Given the description of an element on the screen output the (x, y) to click on. 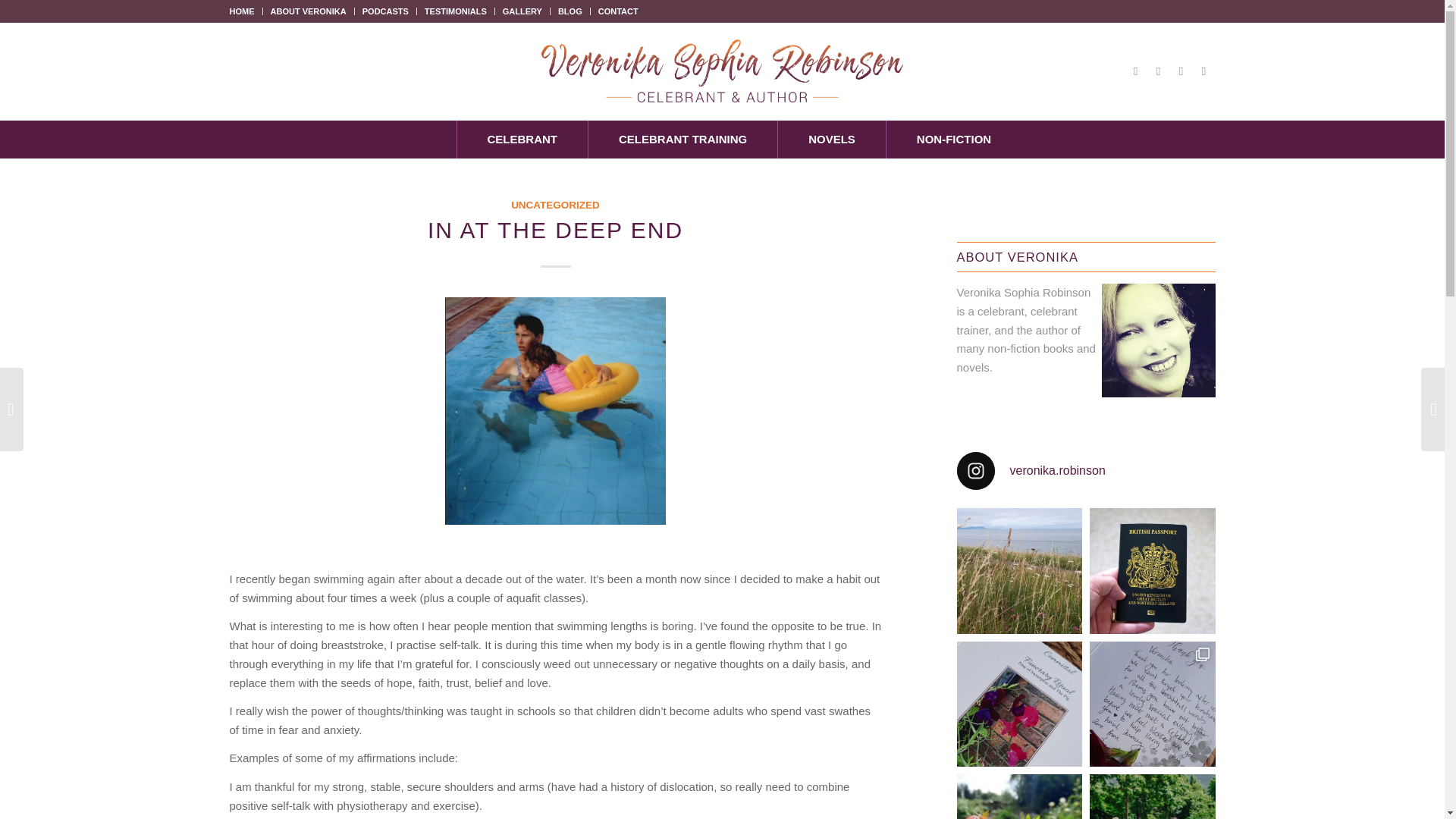
TESTIMONIALS (455, 11)
Twitter (1158, 70)
HOME (240, 11)
Facebook (1135, 70)
CELEBRANT (522, 139)
NOVELS (831, 139)
Permanent Link: In at the deep end (555, 229)
ABOUT VERONIKA (307, 11)
Instagram (1180, 70)
NON-FICTION (953, 139)
Pinterest (1203, 70)
UNCATEGORIZED (555, 204)
GALLERY (521, 11)
CONTACT (618, 11)
IN AT THE DEEP END (555, 229)
